Given the description of an element on the screen output the (x, y) to click on. 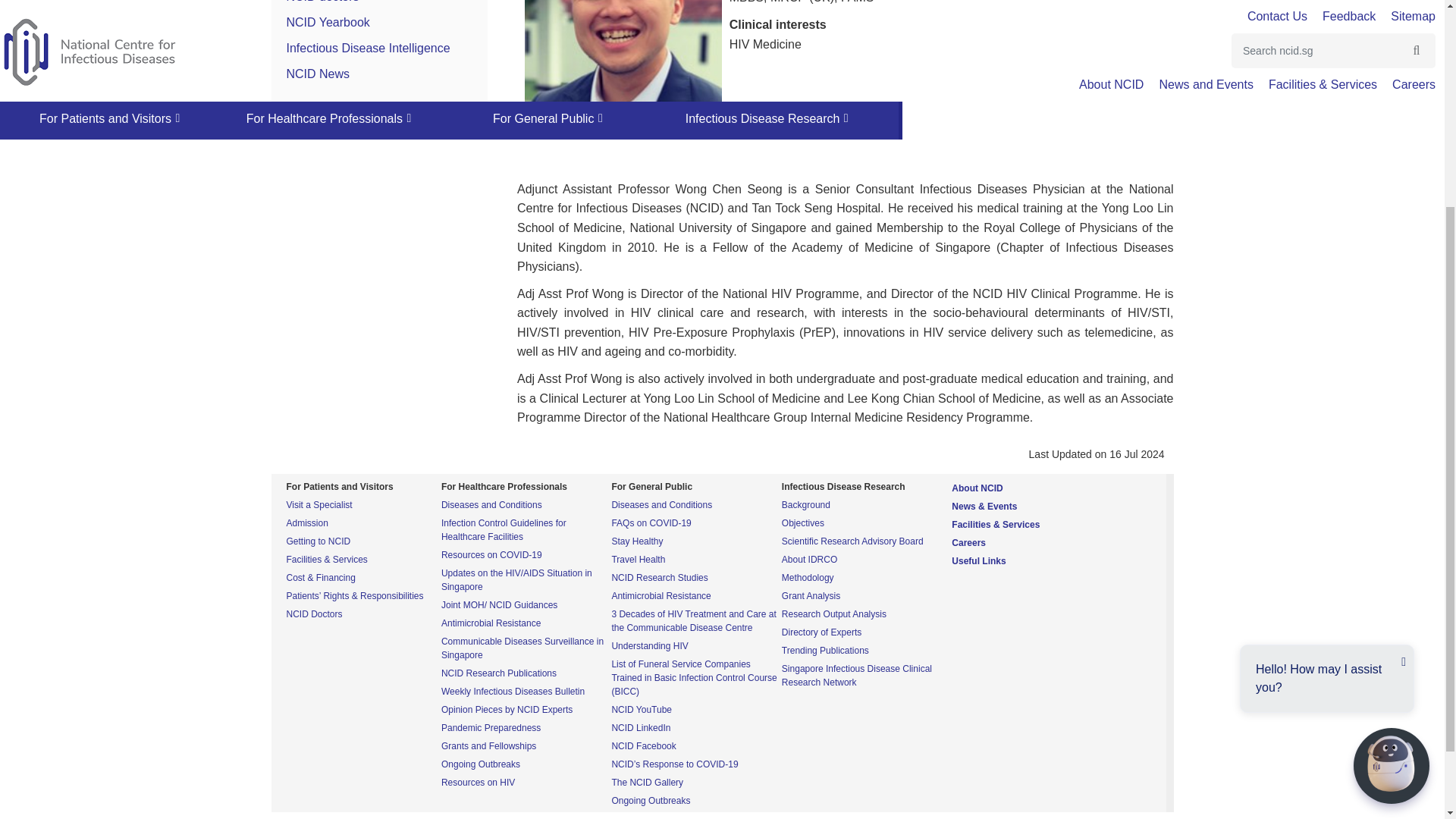
NCID doctors (322, 1)
Infectious Disease Intelligence (367, 47)
NCID News (318, 73)
NCID Yearbook (327, 21)
